Given the description of an element on the screen output the (x, y) to click on. 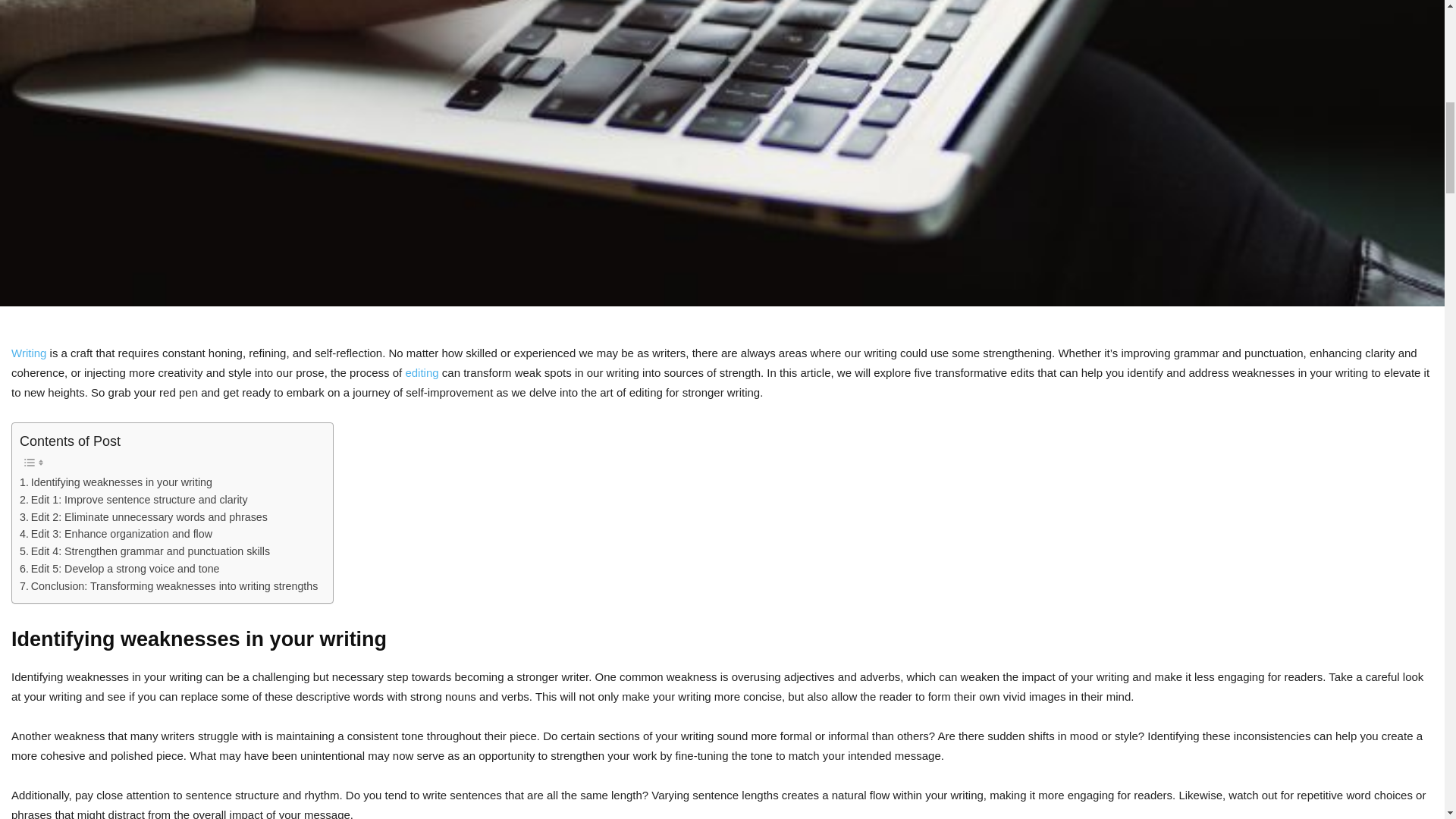
Edit 2: Eliminate unnecessary words and phrases (143, 517)
editing (421, 372)
Conclusion: Transforming weaknesses into writing strengths (168, 586)
Writing (28, 352)
Edit 1: Improve sentence structure and clarity (133, 499)
Edit 2: Eliminate unnecessary words and phrases (143, 517)
Edit 5: Develop a strong voice and tone (119, 569)
Identifying weaknesses in your writing (116, 482)
Edit 3: Enhance organization and flow (116, 533)
Edit 4: Strengthen grammar and punctuation skills (144, 551)
Edit 3: Enhance organization and flow (116, 533)
Edit 5: Develop a strong voice and tone (119, 569)
Conclusion: Transforming weaknesses into writing strengths (168, 586)
Identifying weaknesses in your writing (116, 482)
Edit 1: Improve sentence structure and clarity (133, 499)
